Given the description of an element on the screen output the (x, y) to click on. 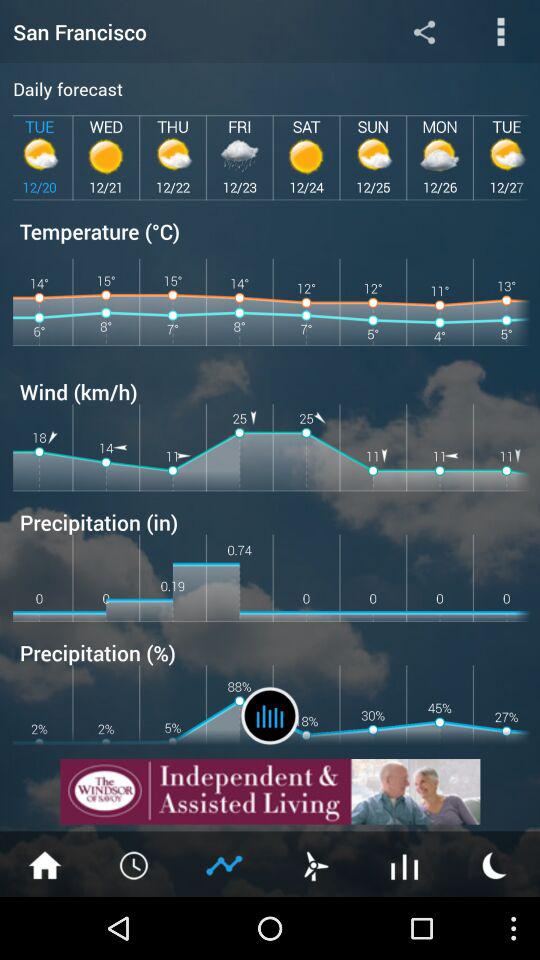
home (45, 864)
